Given the description of an element on the screen output the (x, y) to click on. 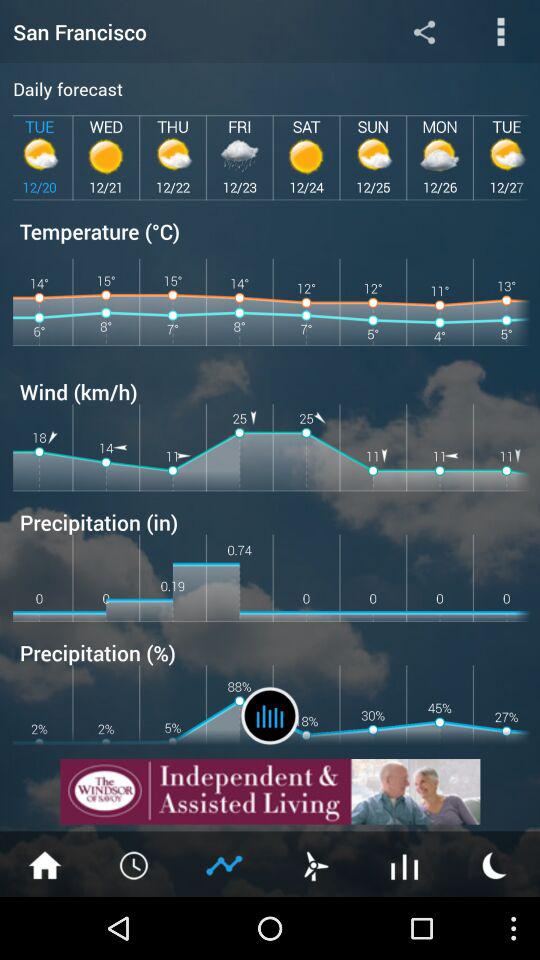
home (45, 864)
